Given the description of an element on the screen output the (x, y) to click on. 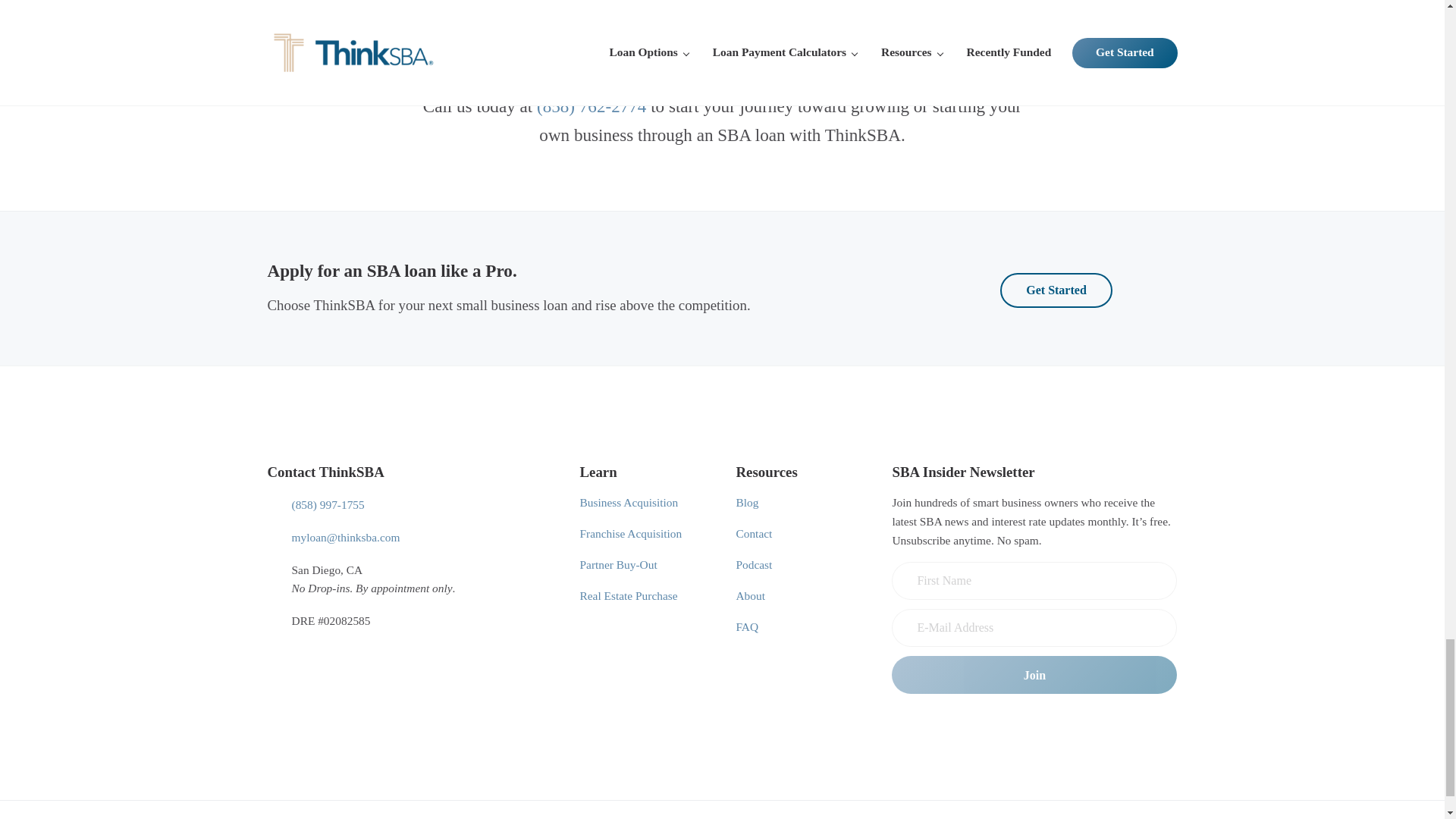
Start Your SBA Journey Today! (721, 33)
Get Started (1056, 289)
Join (1033, 674)
